Given the description of an element on the screen output the (x, y) to click on. 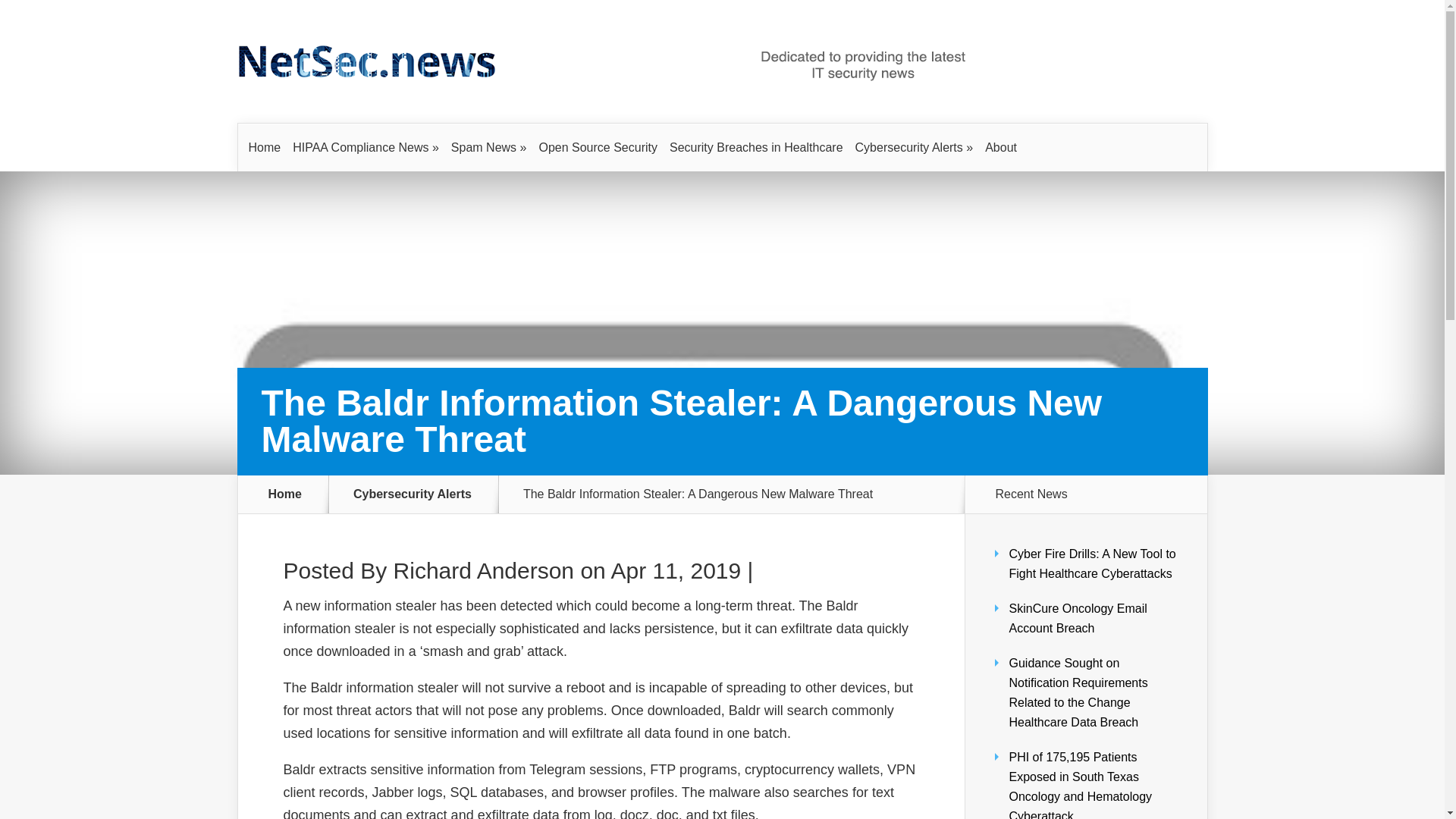
HIPAA Compliance News (365, 147)
Open Source Security (597, 147)
Spam News (488, 147)
Posts by Richard Anderson (483, 570)
Home (264, 147)
Cybersecurity Alerts (913, 147)
Security Breaches in Healthcare (755, 147)
